Given the description of an element on the screen output the (x, y) to click on. 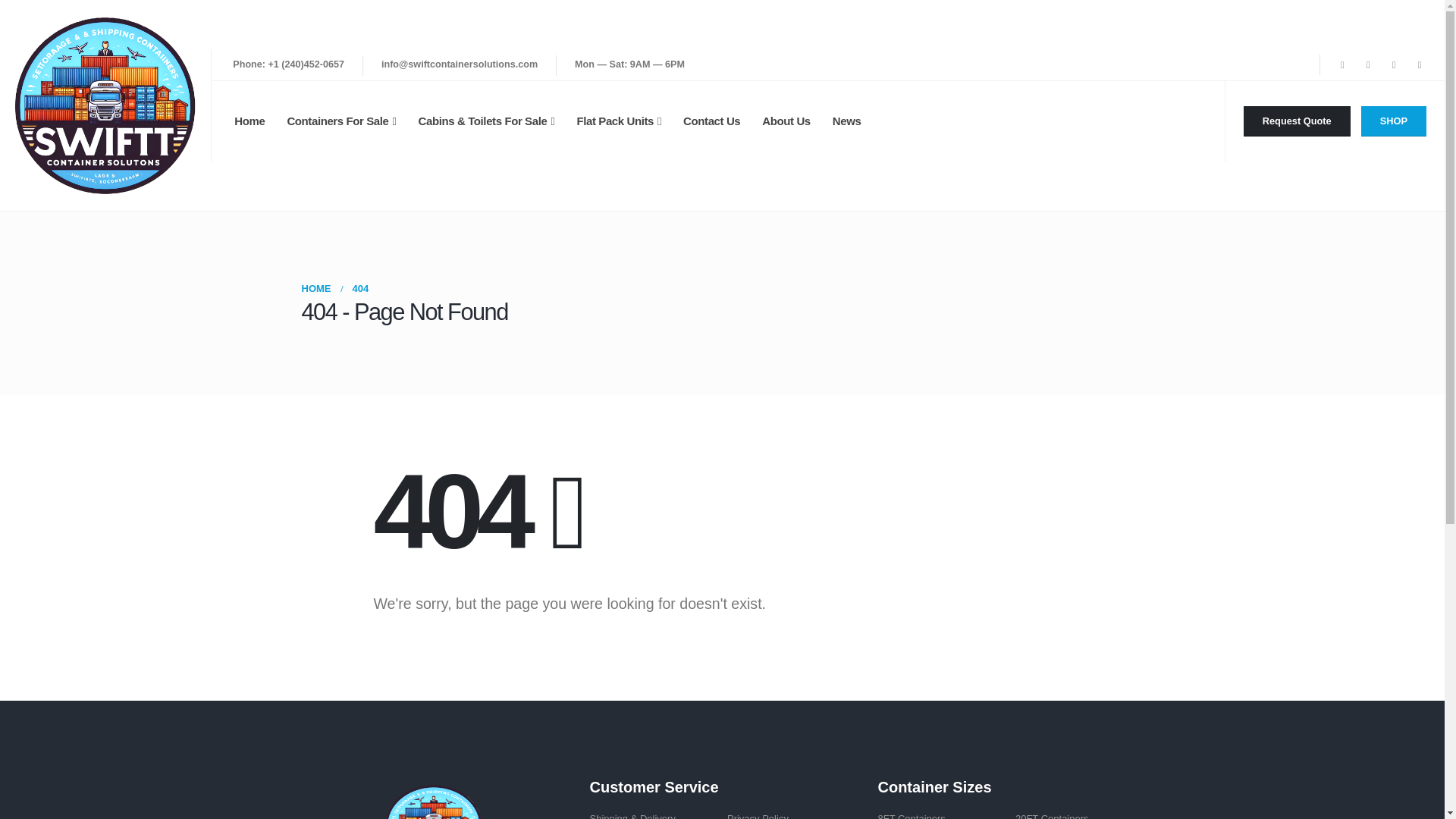
Contact Us (711, 121)
Twitter (1367, 65)
Flat Pack Units (618, 121)
Containers For Sale (341, 121)
Facebook (1342, 65)
Instagram (1394, 65)
Request Quote (1297, 121)
SHOP (1393, 121)
Go to Home Page (316, 288)
LinkedIn (1419, 65)
